Given the description of an element on the screen output the (x, y) to click on. 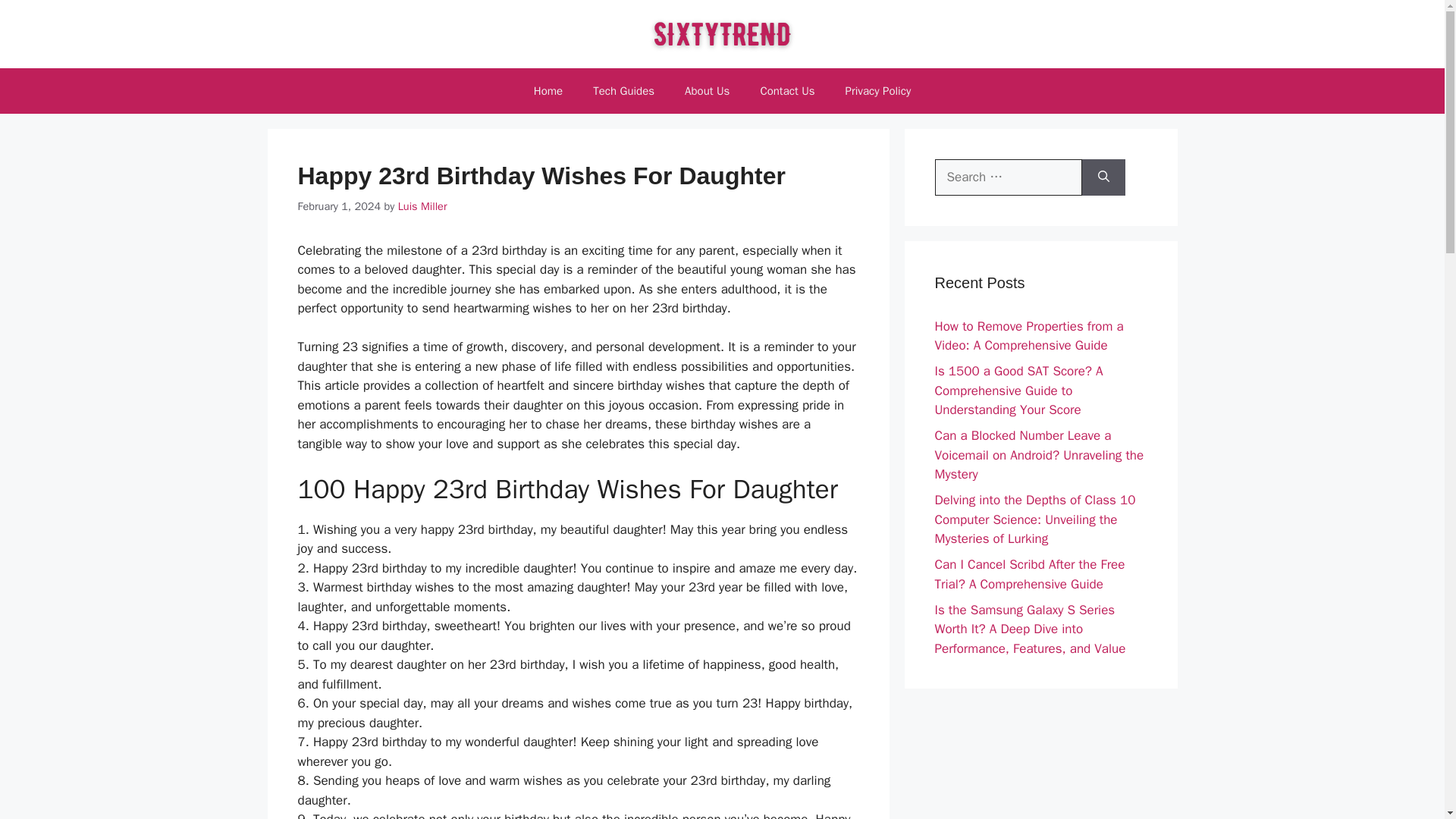
Search for: (1007, 176)
Home (548, 90)
About Us (706, 90)
Luis Miller (421, 205)
Contact Us (786, 90)
Tech Guides (623, 90)
View all posts by Luis Miller (421, 205)
Privacy Policy (877, 90)
How to Remove Properties from a Video: A Comprehensive Guide (1028, 335)
